Given the description of an element on the screen output the (x, y) to click on. 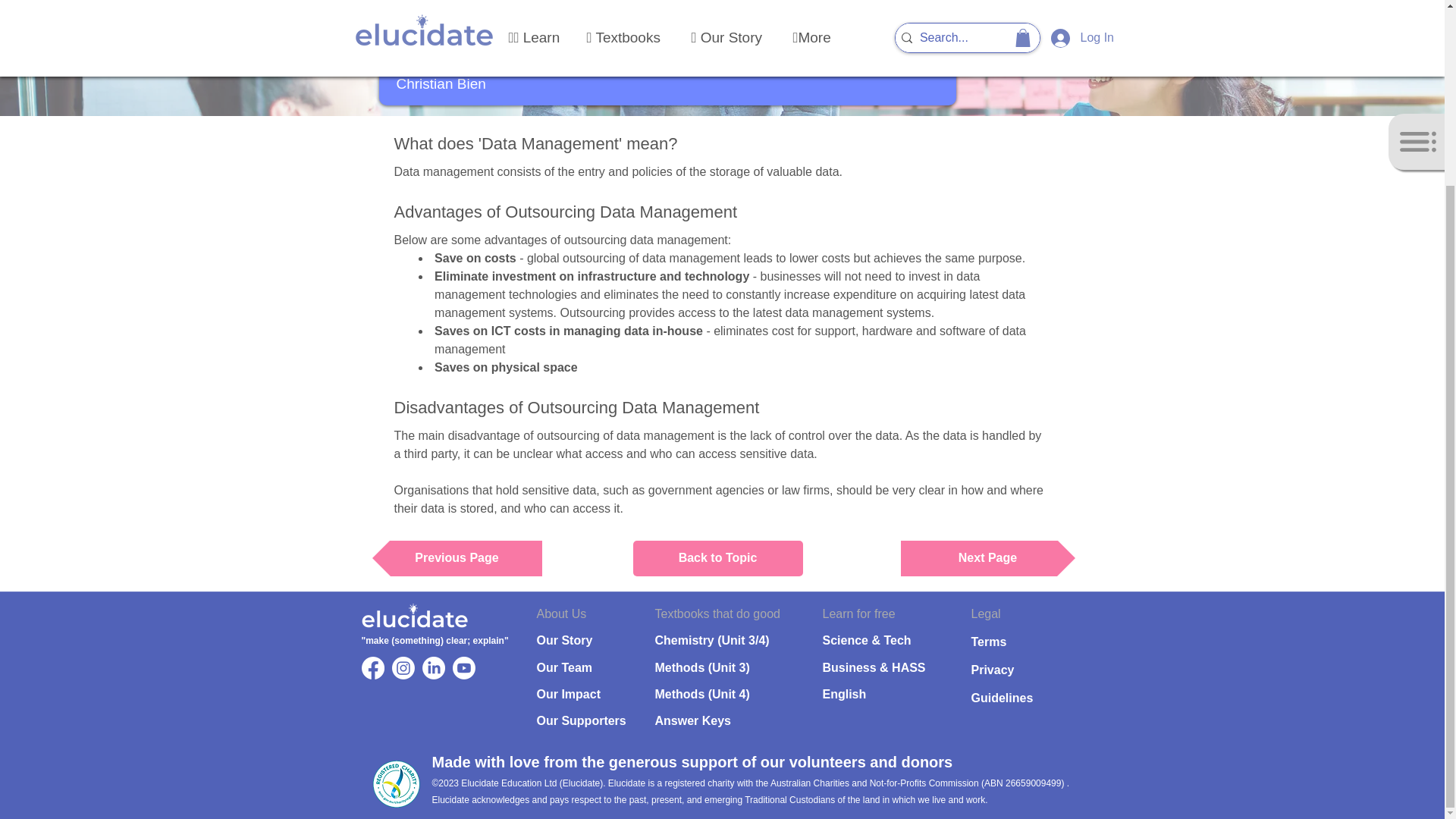
Back to Topic (716, 558)
Our Team (564, 667)
Our Supporters (581, 720)
Previous Page (456, 558)
Our Story (564, 640)
Next Page (988, 558)
Our Impact (568, 694)
